Given the description of an element on the screen output the (x, y) to click on. 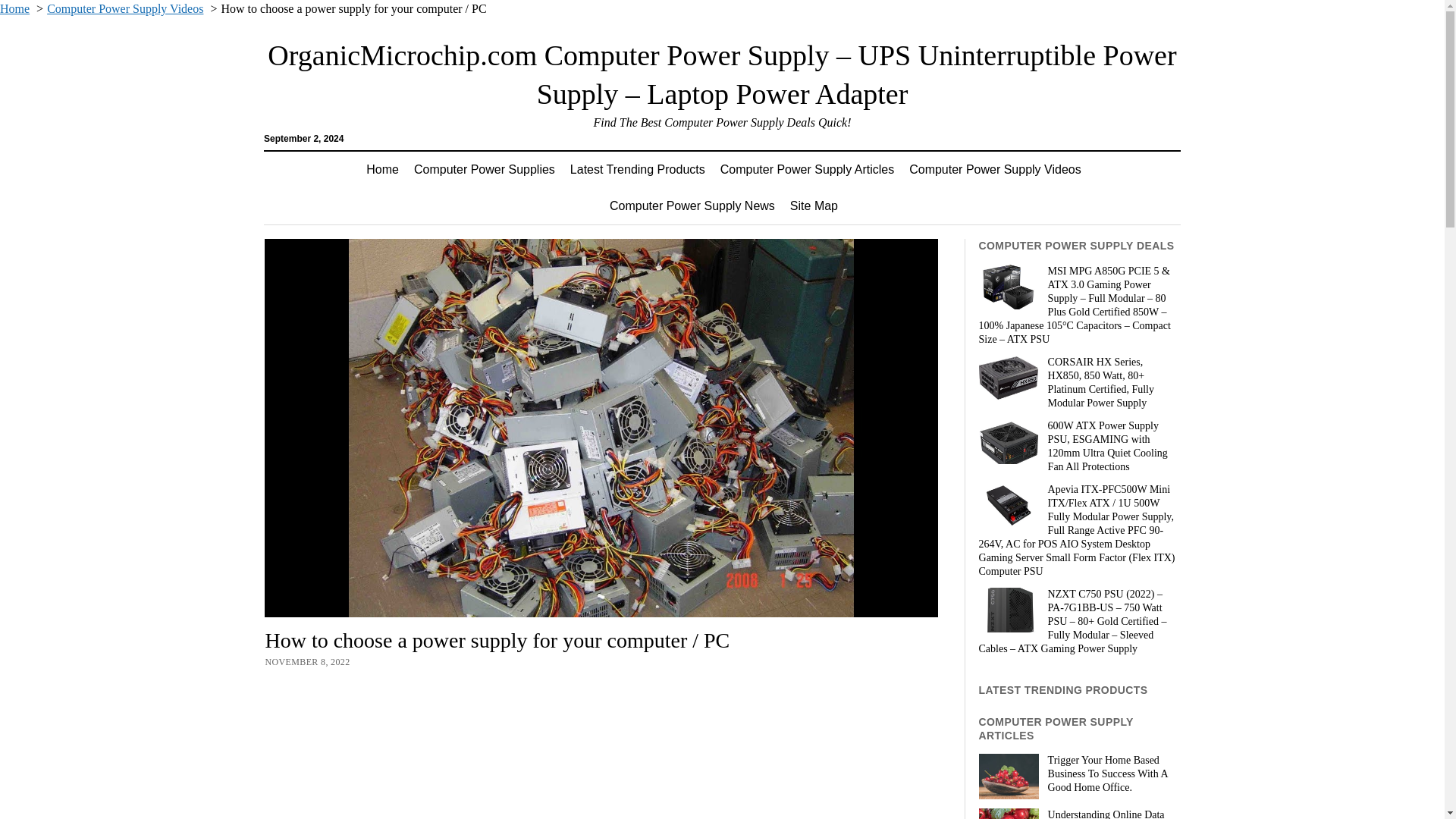
Computer Power Supply Videos (124, 8)
Computer Power Supply News (691, 206)
Computer Power Supply Articles (806, 169)
Home (381, 169)
Latest Trending Products (637, 169)
Understanding Online Data Entry (1078, 813)
Site Map (813, 206)
Computer Power Supply Videos (994, 169)
Home (14, 8)
